Given the description of an element on the screen output the (x, y) to click on. 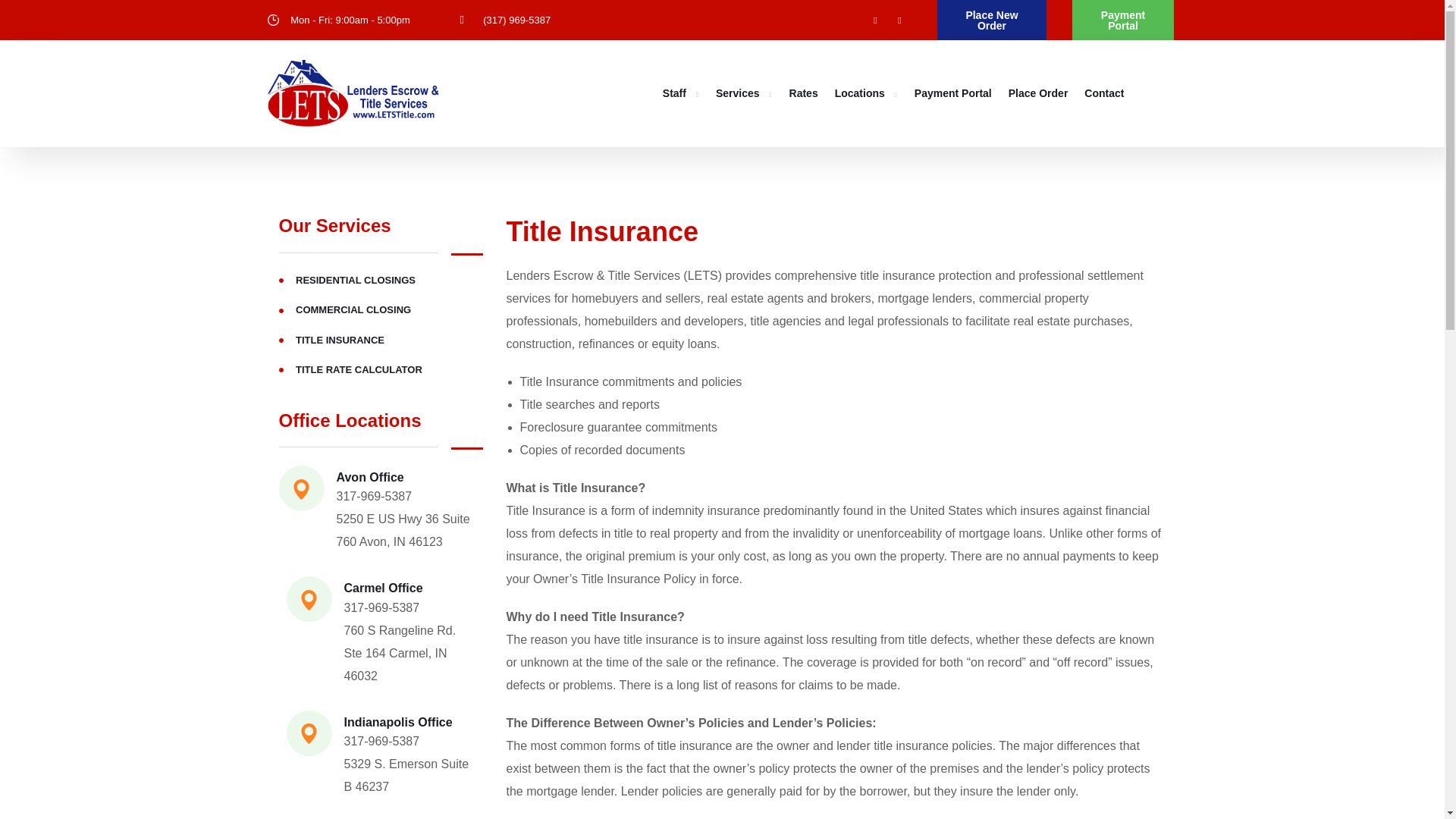
Locations (866, 93)
Payment Portal (952, 93)
Contact (1104, 93)
Place New Order (991, 20)
Place Order (1038, 93)
Services (744, 93)
Payment Portal (1122, 20)
